Given the description of an element on the screen output the (x, y) to click on. 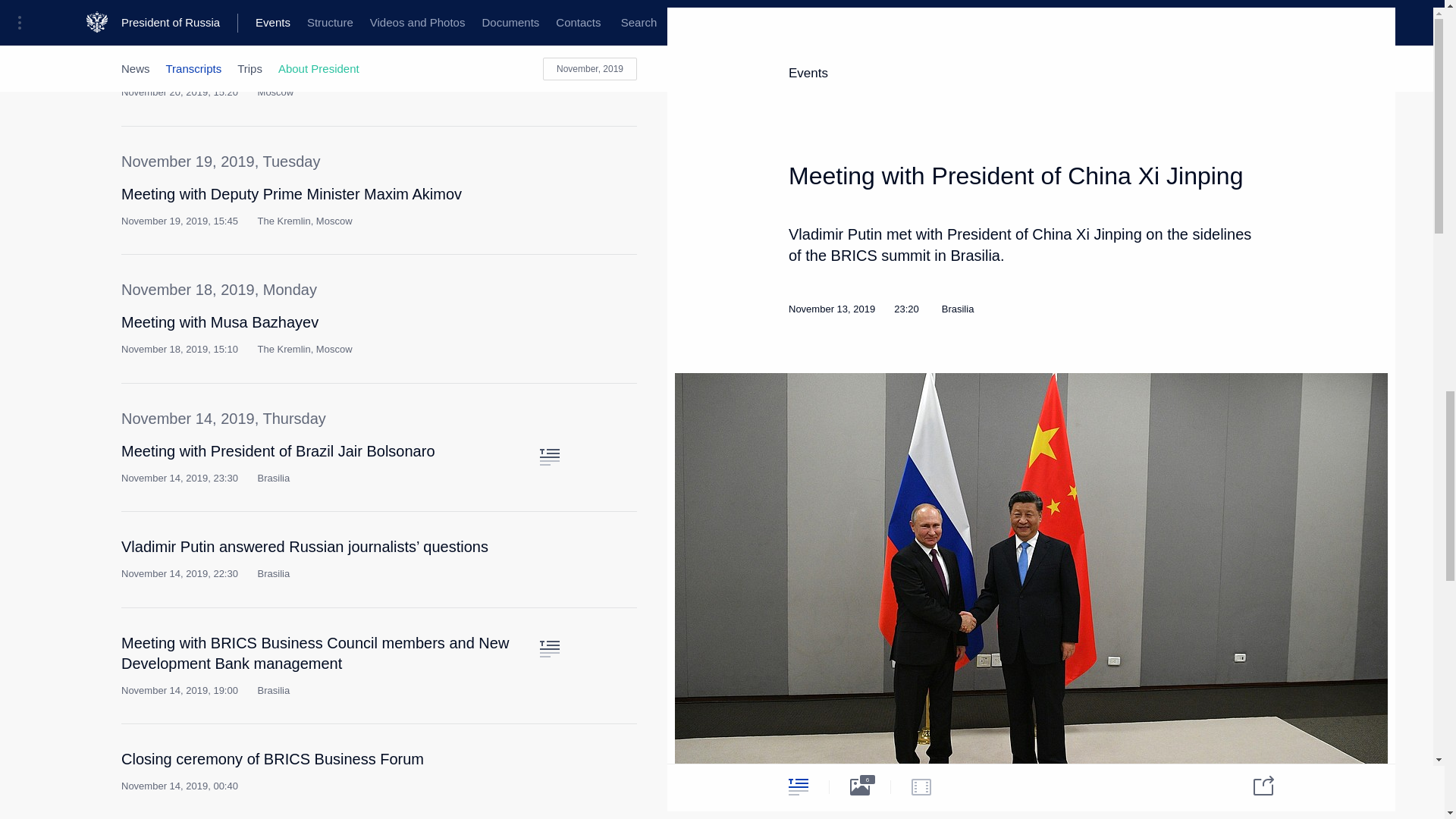
Text of the article (549, 328)
Text of the article (549, 457)
Text of the article (549, 199)
Text of the article (549, 71)
